Given the description of an element on the screen output the (x, y) to click on. 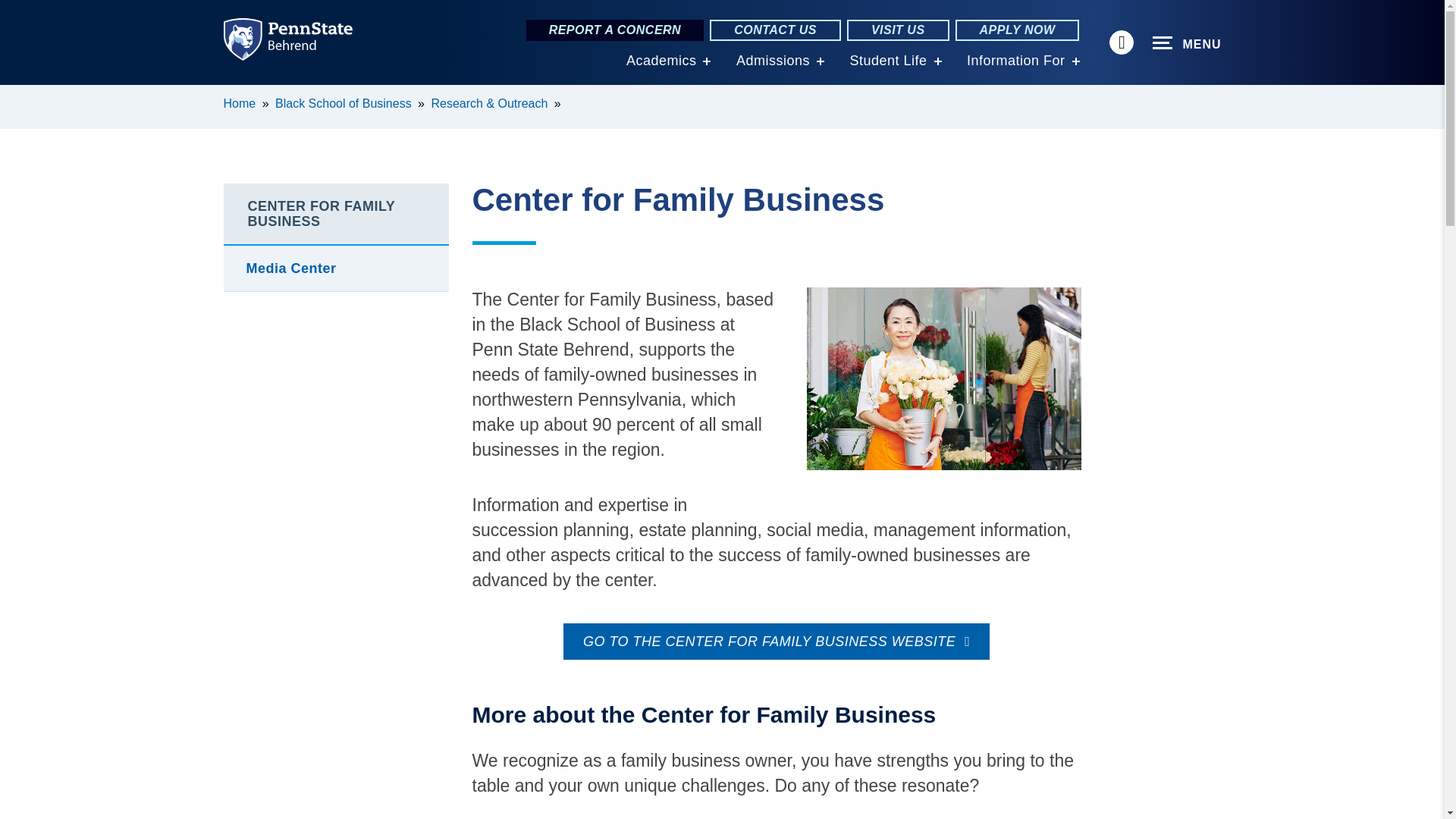
MENU (1187, 43)
Admissions (772, 60)
Student Life (887, 60)
SKIP TO MAIN CONTENT (19, 95)
REPORT A CONCERN (614, 29)
CONTACT US (775, 29)
APPLY NOW (1017, 29)
VISIT US (898, 29)
Academics (661, 60)
